Given the description of an element on the screen output the (x, y) to click on. 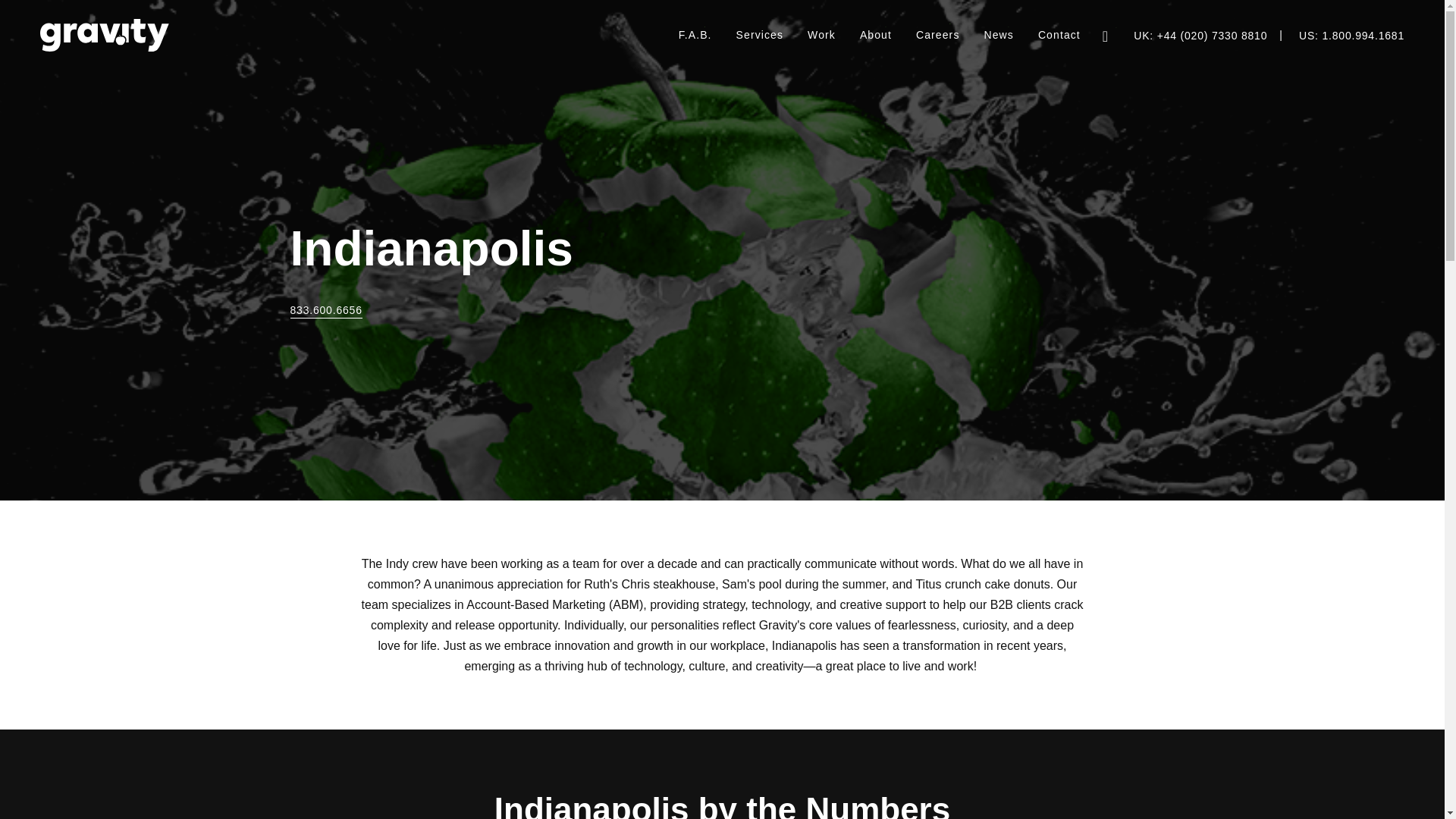
Contact (1059, 35)
Careers (938, 35)
US: 1.800.994.1681 (1351, 35)
Services (758, 35)
F.A.B. (694, 35)
Work (820, 35)
News (998, 35)
About (875, 35)
Gravity Global (104, 34)
